Given the description of an element on the screen output the (x, y) to click on. 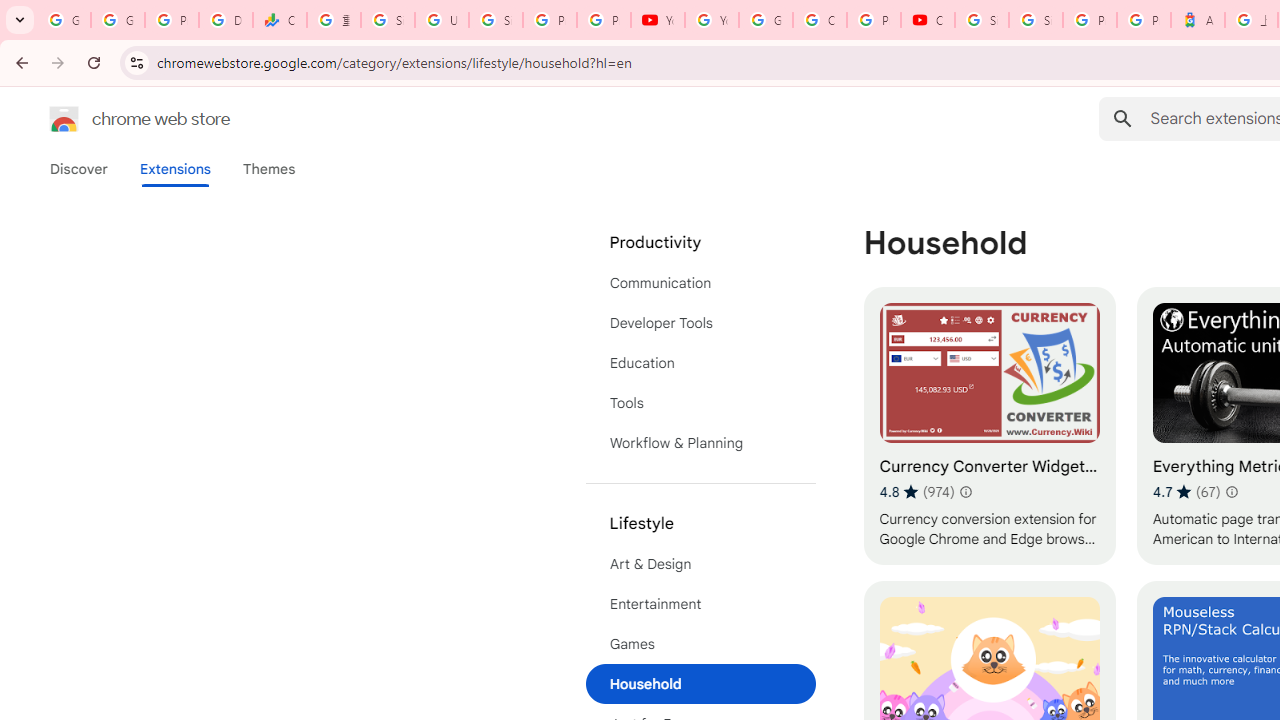
Extensions (174, 169)
Privacy Checkup (604, 20)
Average rating 4.7 out of 5 stars. 67 ratings. (1186, 491)
Content Creator Programs & Opportunities - YouTube Creators (927, 20)
Sign in - Google Accounts (981, 20)
Tools (700, 403)
Google Account Help (765, 20)
Create your Google Account (819, 20)
Communication (700, 282)
